Given the description of an element on the screen output the (x, y) to click on. 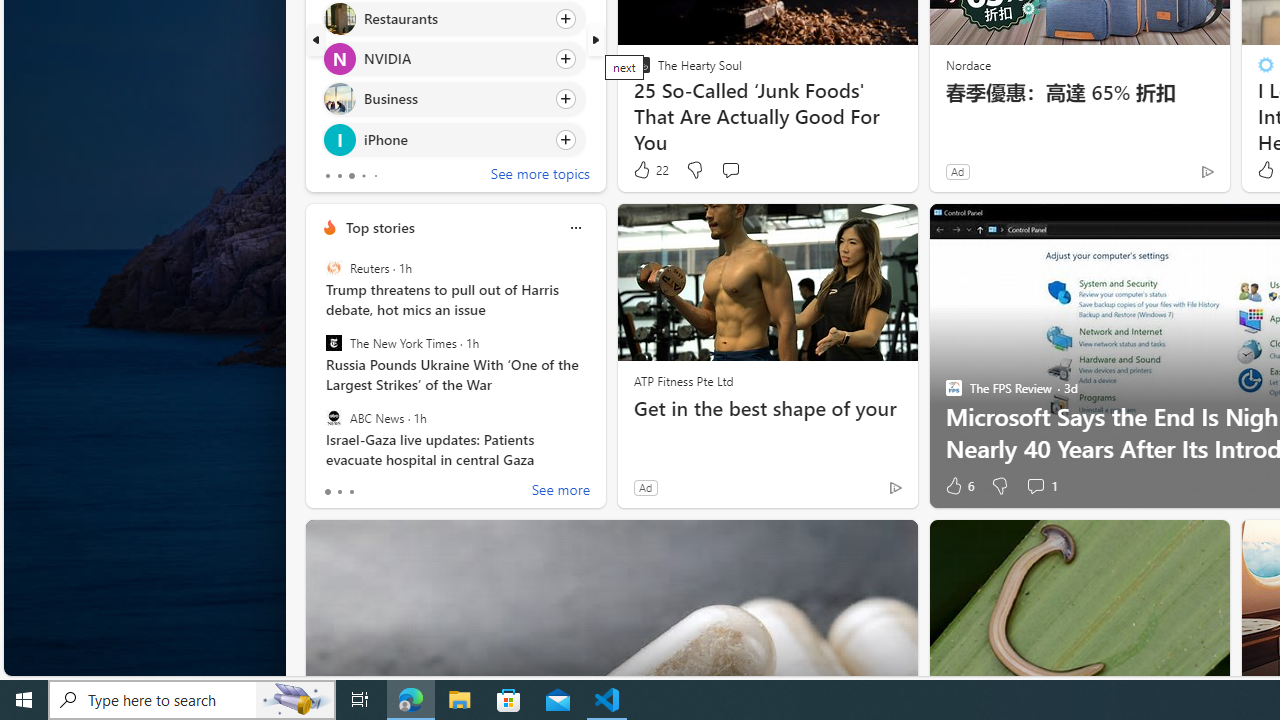
ABC News (333, 417)
Click to follow topic Business (453, 99)
The New York Times (333, 343)
